Given the description of an element on the screen output the (x, y) to click on. 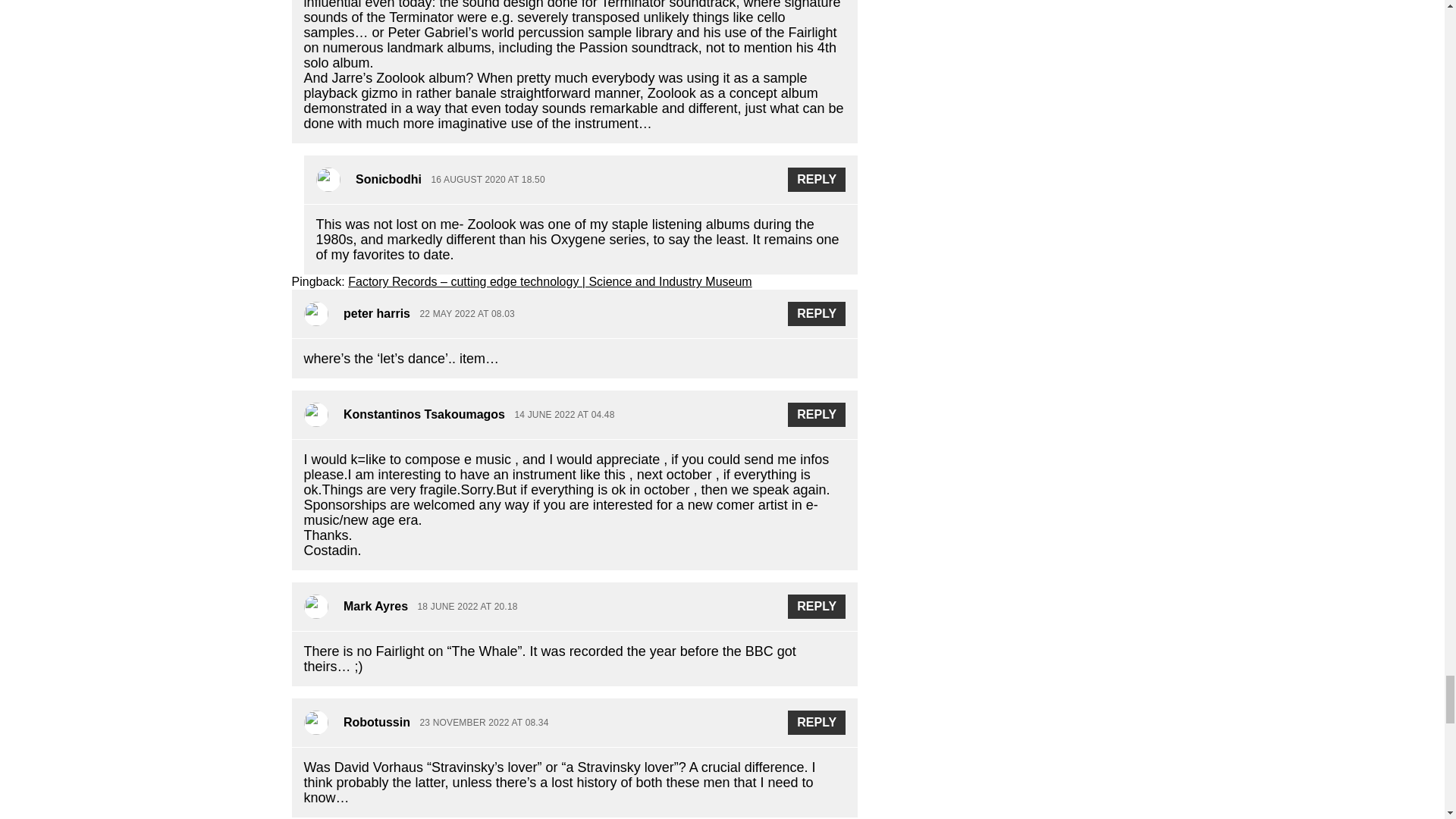
16 AUGUST 2020 AT 18.50 (487, 180)
14 JUNE 2022 AT 04.48 (563, 415)
22 MAY 2022 AT 08.03 (466, 314)
REPLY (816, 313)
REPLY (816, 179)
